Given the description of an element on the screen output the (x, y) to click on. 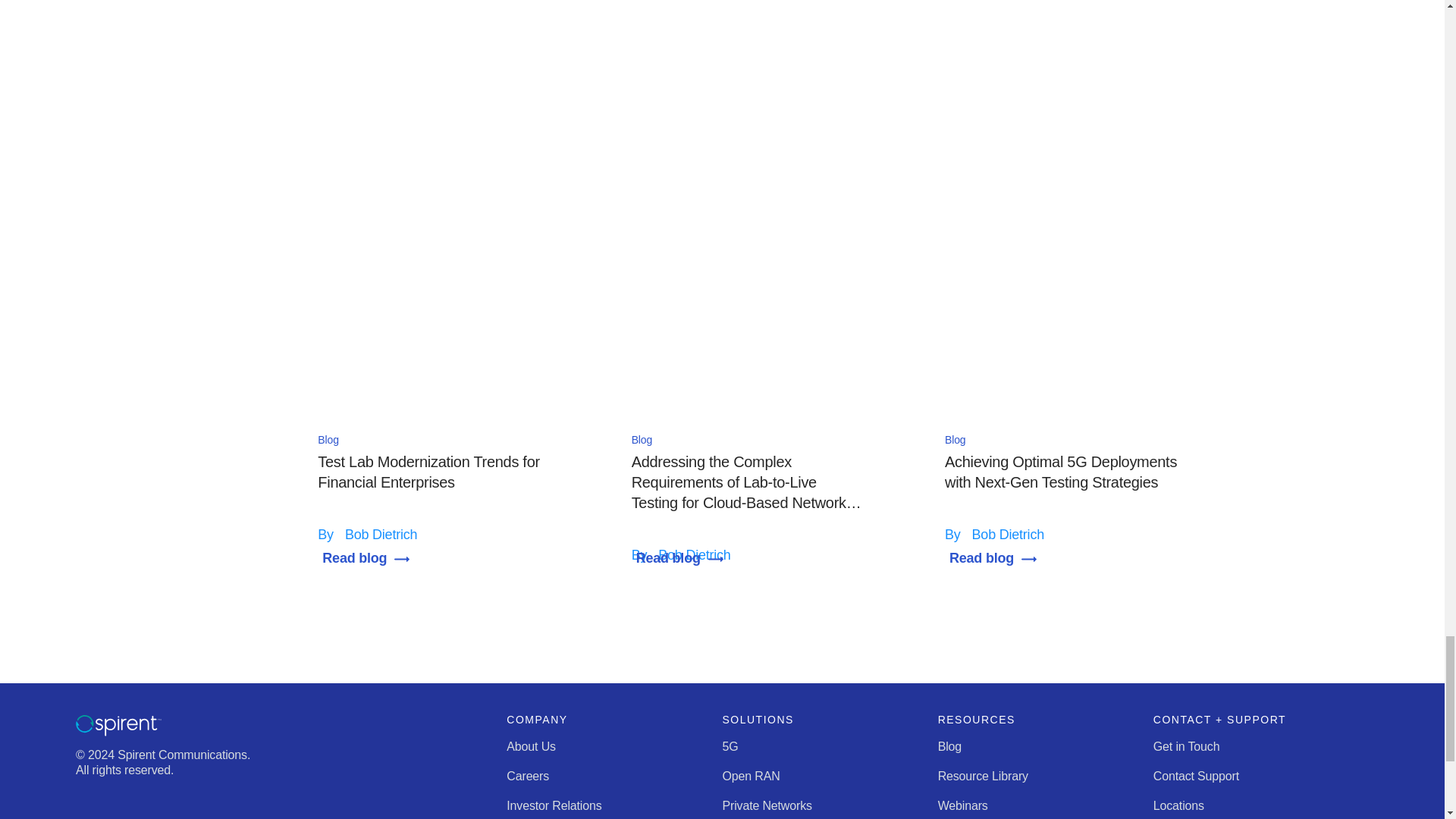
Bob Dietrich (380, 534)
By (327, 534)
Read blog (368, 557)
